Given the description of an element on the screen output the (x, y) to click on. 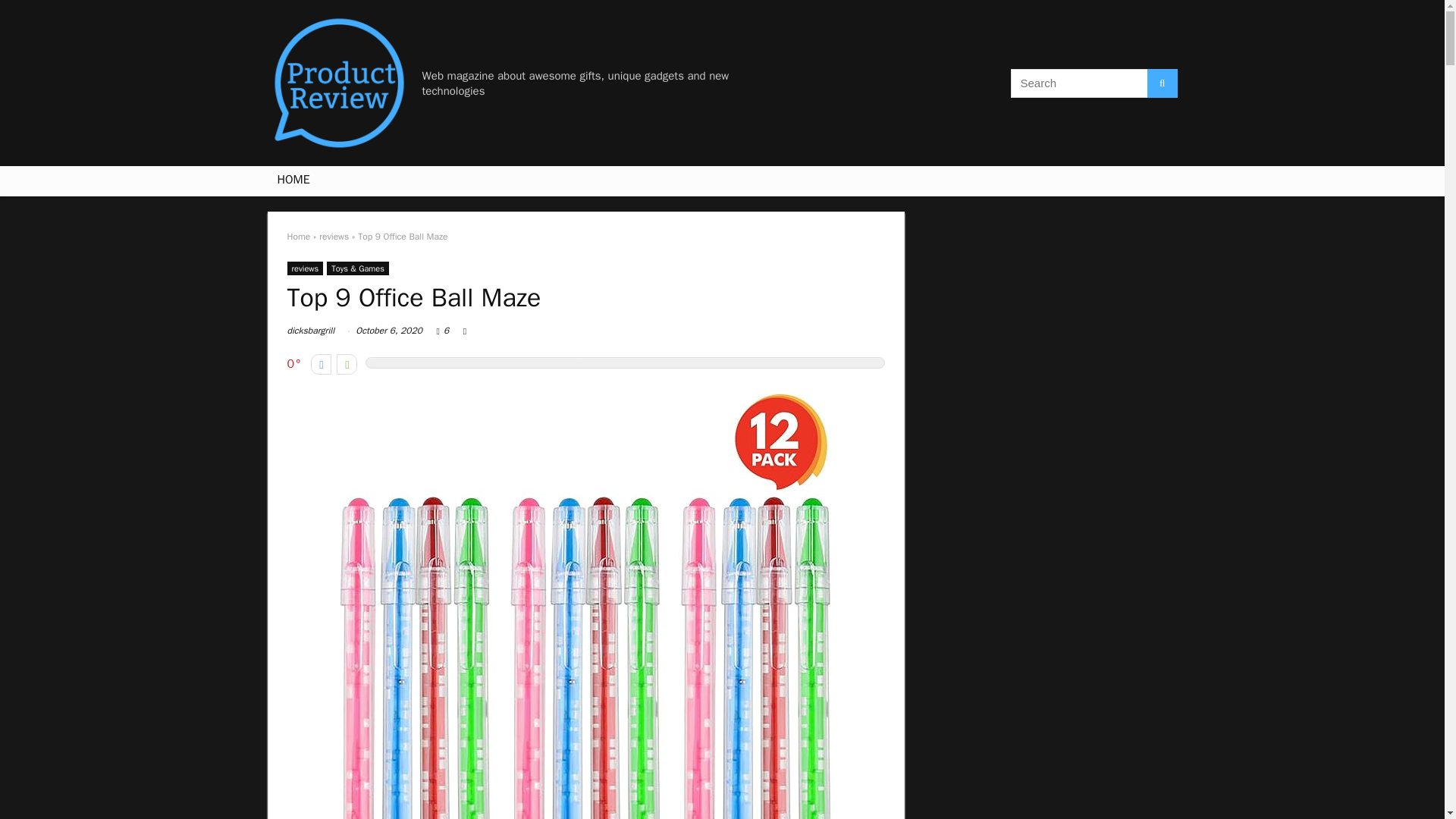
reviews (304, 268)
dicksbargrill (310, 330)
HOME (292, 181)
Home (298, 236)
Vote down (321, 363)
reviews (333, 236)
Vote up (346, 363)
View all posts in reviews (304, 268)
